Given the description of an element on the screen output the (x, y) to click on. 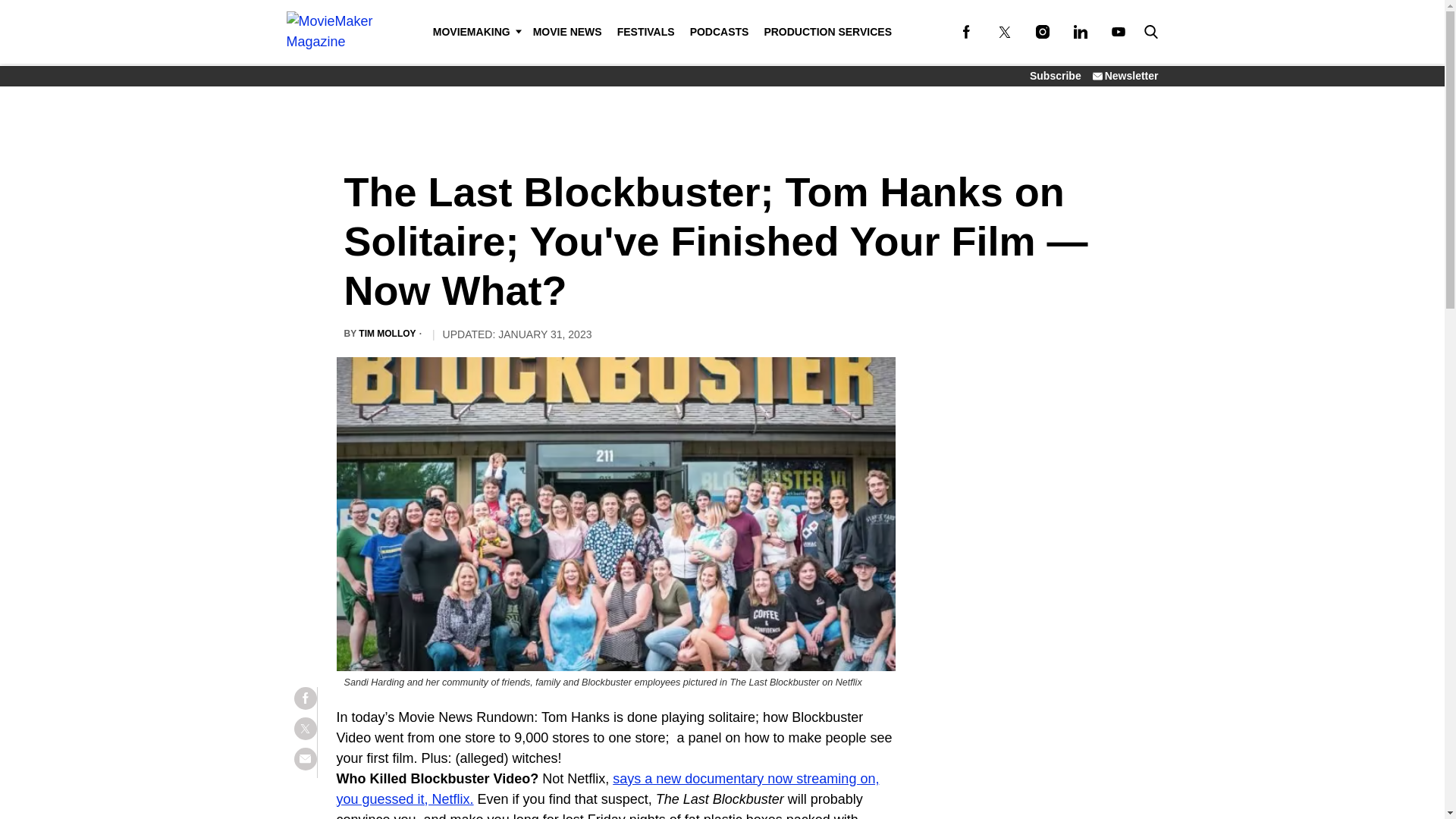
MOVIEMAKING (475, 31)
FESTIVALS (646, 31)
TIM MOLLOY (386, 333)
Share on Facebook (305, 698)
MOVIE NEWS (567, 31)
Newsletter (1125, 76)
Share via Email (305, 758)
Share on Twitter (305, 728)
Subscribe (1055, 76)
PODCASTS (719, 31)
Posts by Tim Molloy (386, 333)
PRODUCTION SERVICES (827, 31)
